Given the description of an element on the screen output the (x, y) to click on. 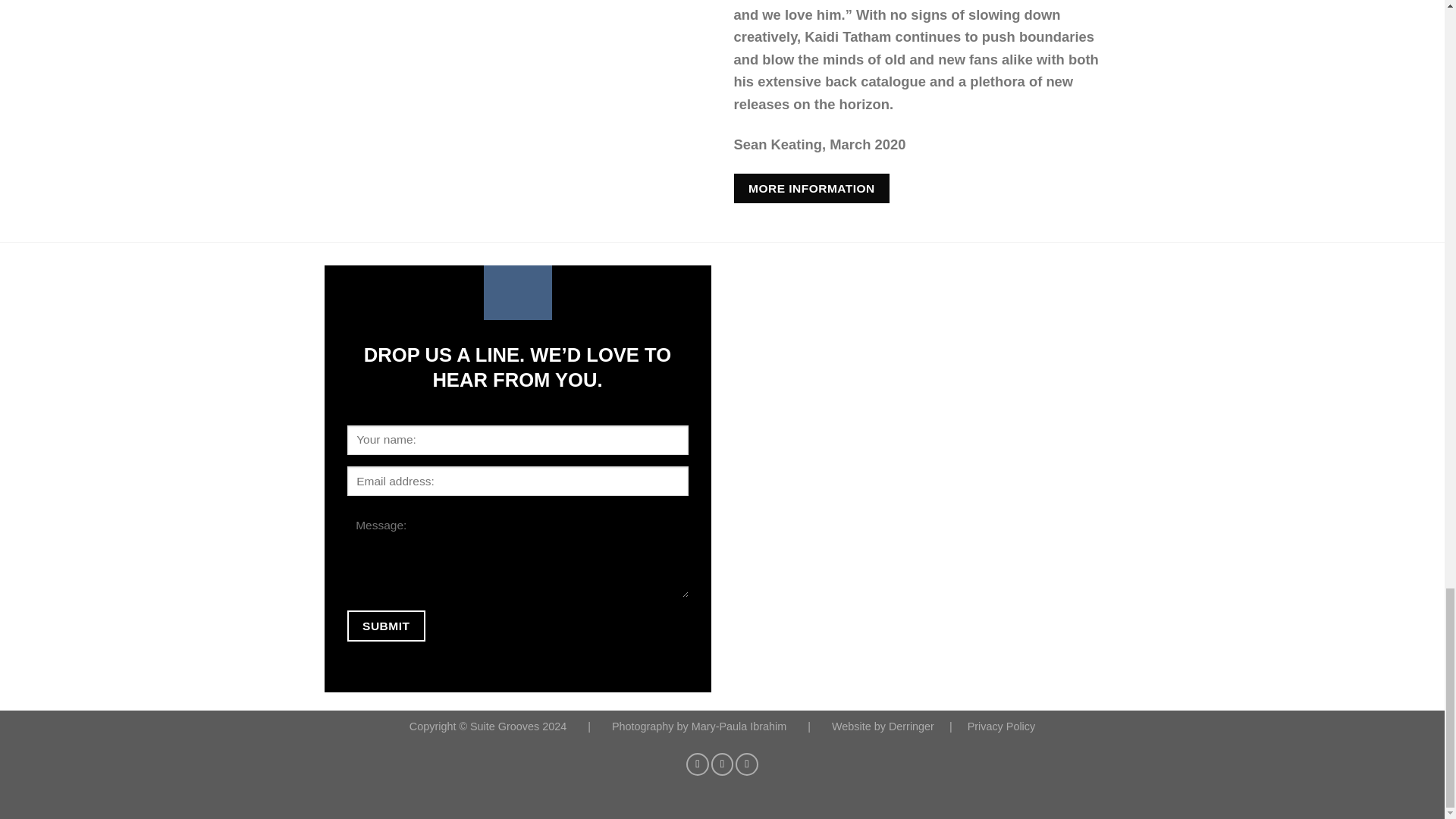
Photography by Mary-Paula Ibrahim (700, 726)
Submit (386, 625)
Submit (386, 625)
Website by Derringer (884, 726)
Privacy Policy (1001, 726)
MORE INFORMATION (811, 188)
